Given the description of an element on the screen output the (x, y) to click on. 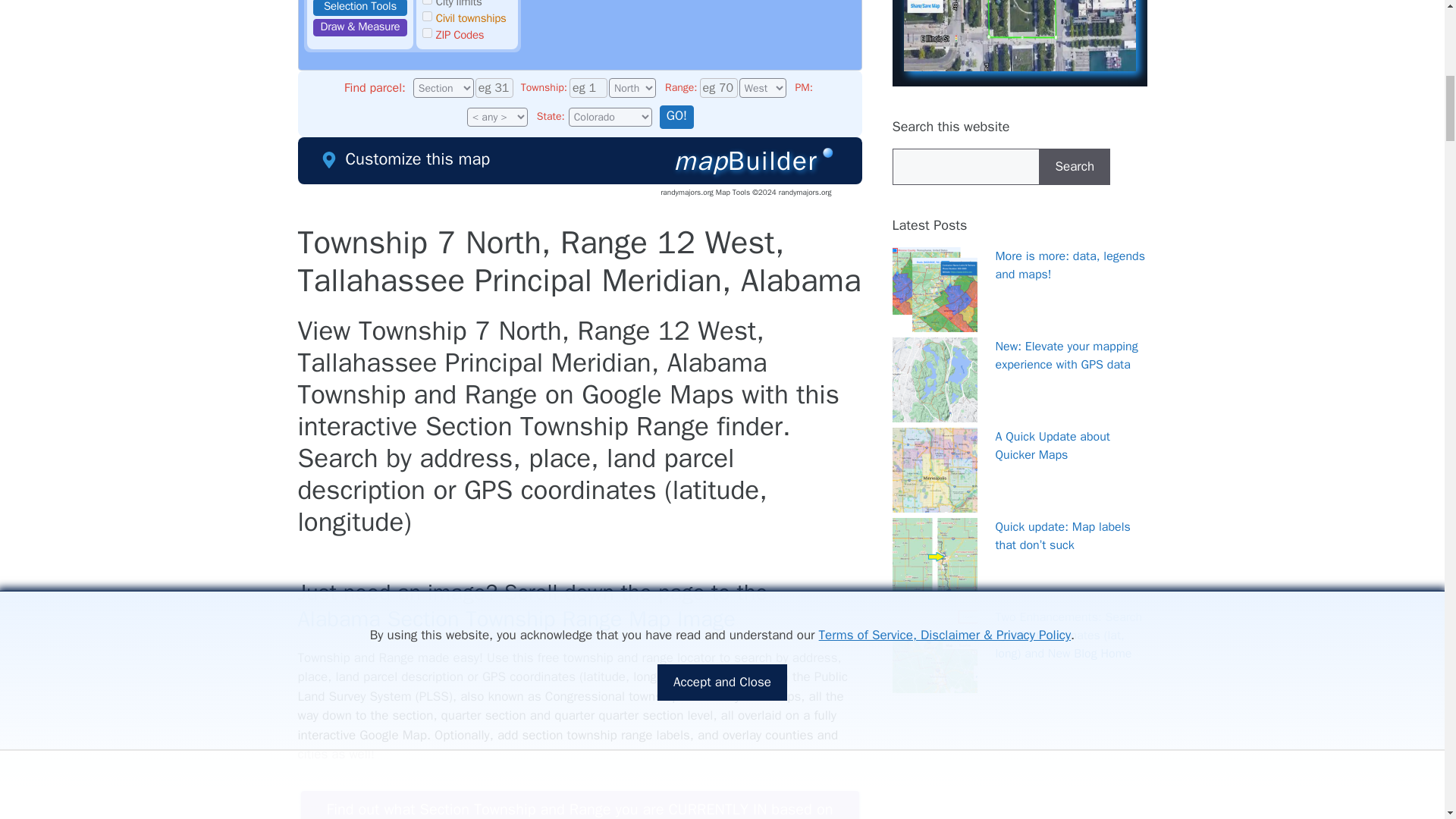
on (427, 2)
on (427, 16)
on (427, 32)
